Given the description of an element on the screen output the (x, y) to click on. 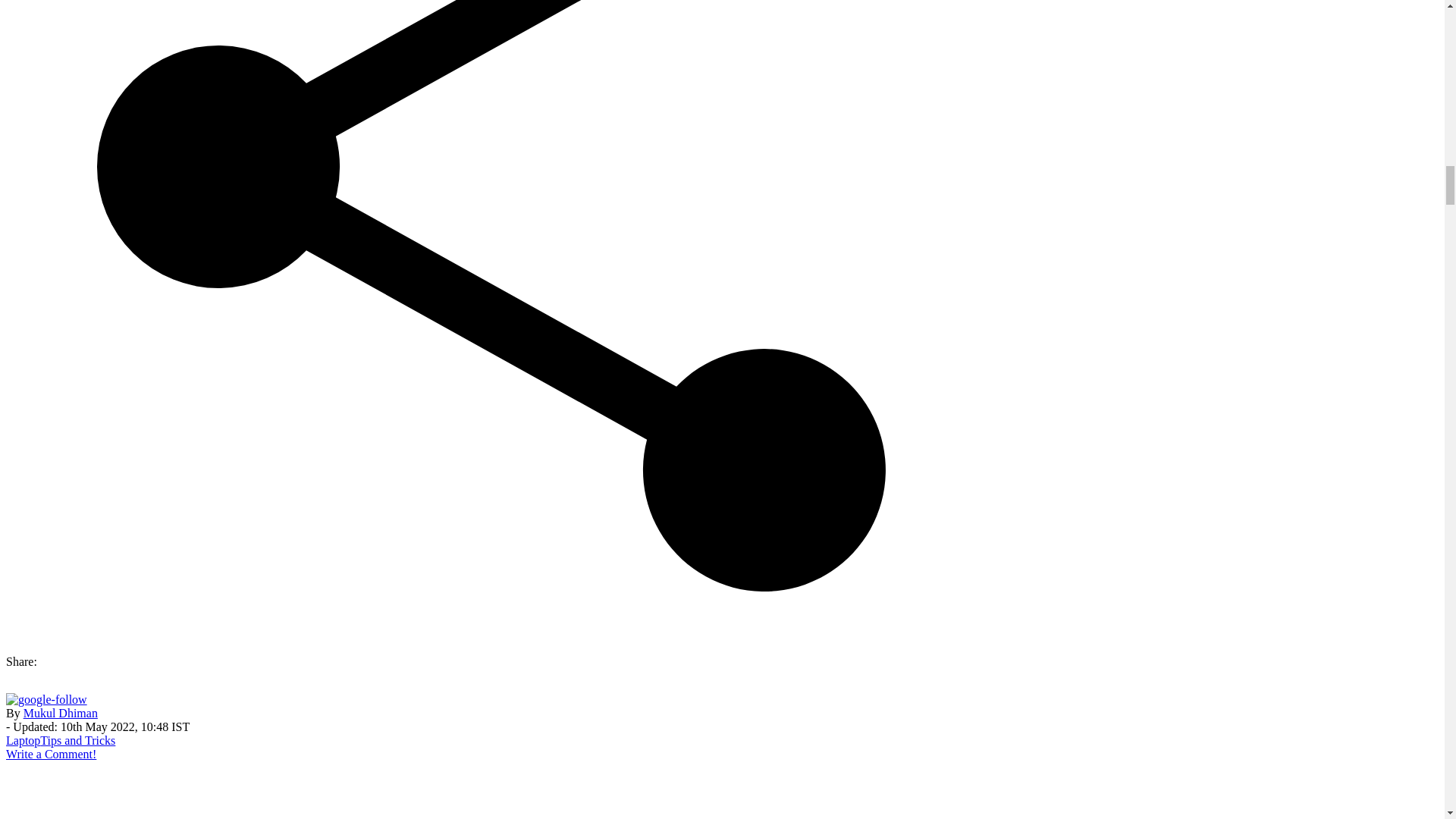
Mukul Dhiman (60, 712)
Tips and Tricks (77, 739)
Write a Comment! (50, 753)
Laptop (22, 739)
